Given the description of an element on the screen output the (x, y) to click on. 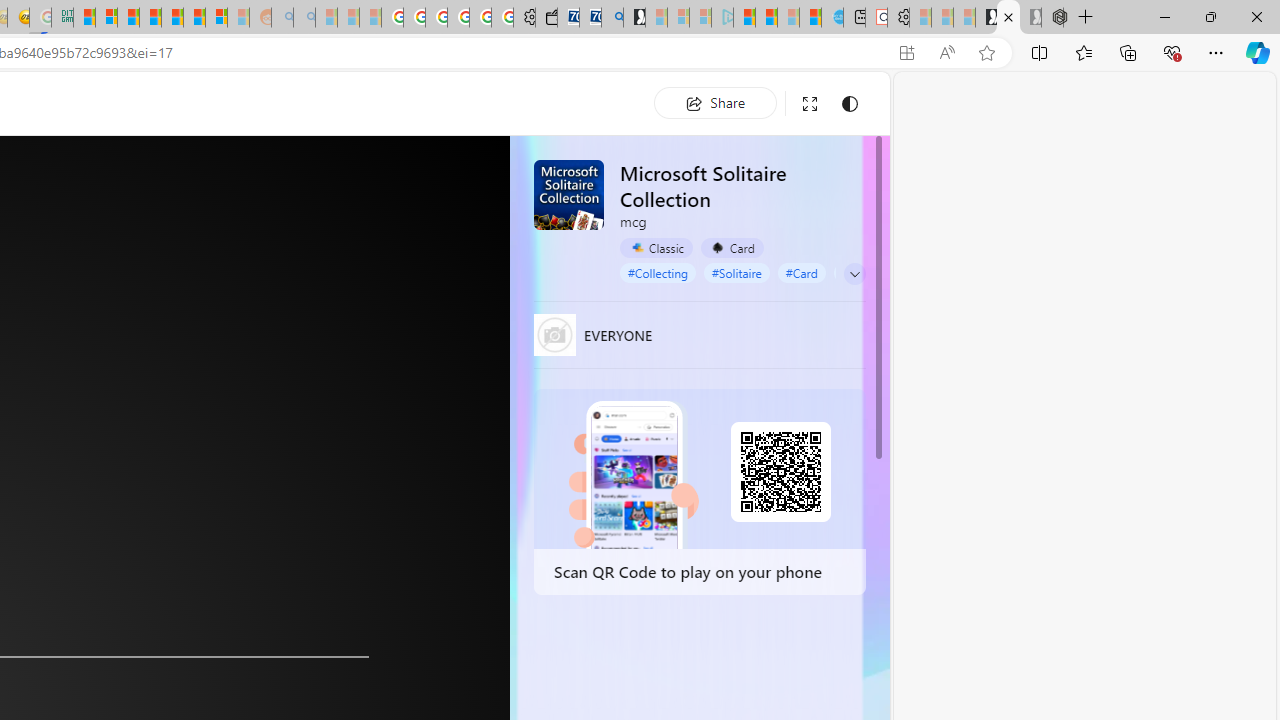
Microsoft Solitaire Collection (568, 194)
Full screen (810, 103)
Classic (656, 248)
Bing Real Estate - Home sales and rental listings (612, 17)
